Given the description of an element on the screen output the (x, y) to click on. 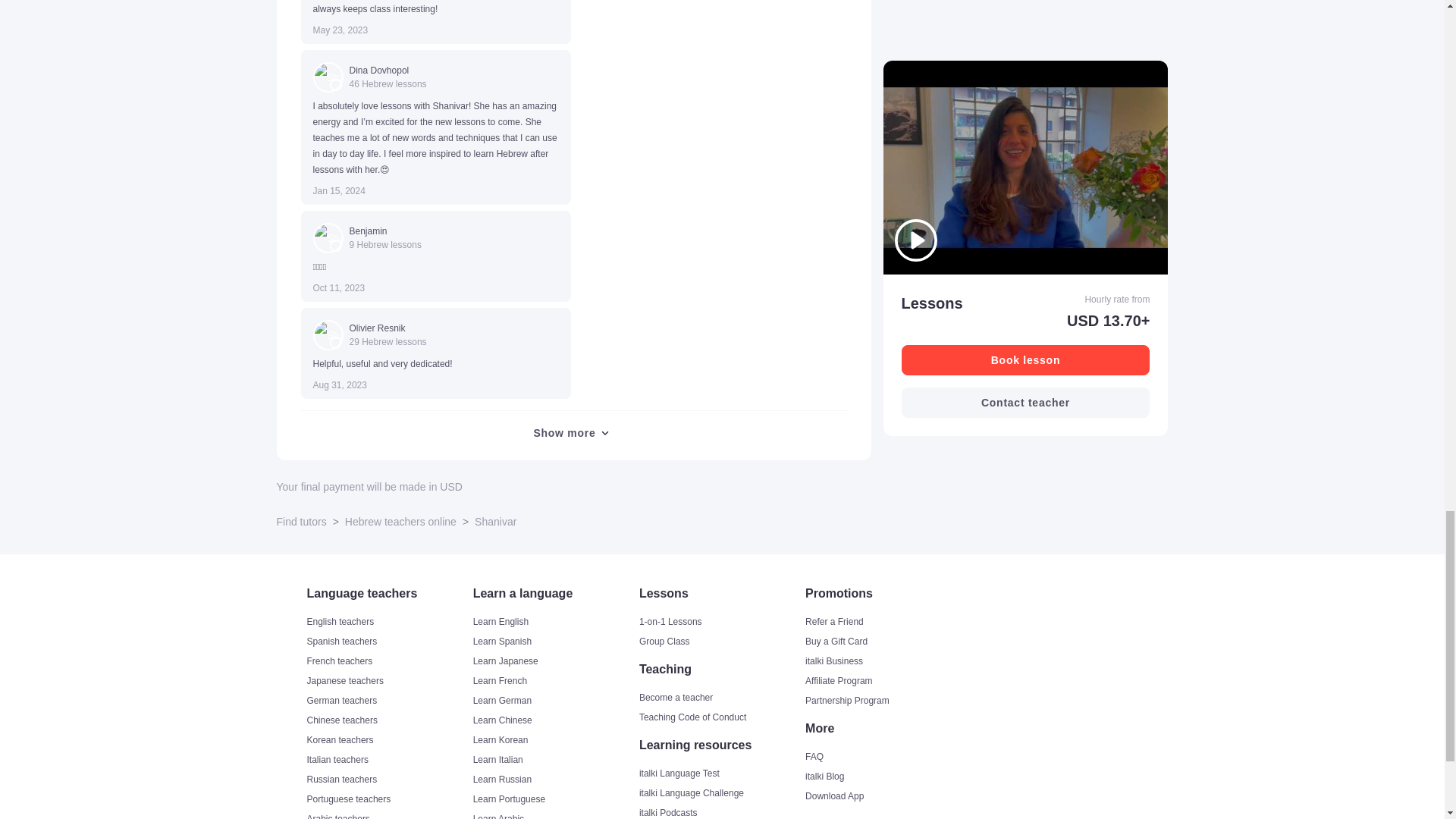
Learn Chinese (554, 720)
Italian teachers (386, 759)
Show more (572, 432)
German teachers (386, 700)
Korean teachers (386, 739)
Russian teachers (386, 779)
Learn Korean (554, 739)
Learn French (554, 680)
Hebrew teachers online (401, 521)
Learn Spanish (554, 641)
